Given the description of an element on the screen output the (x, y) to click on. 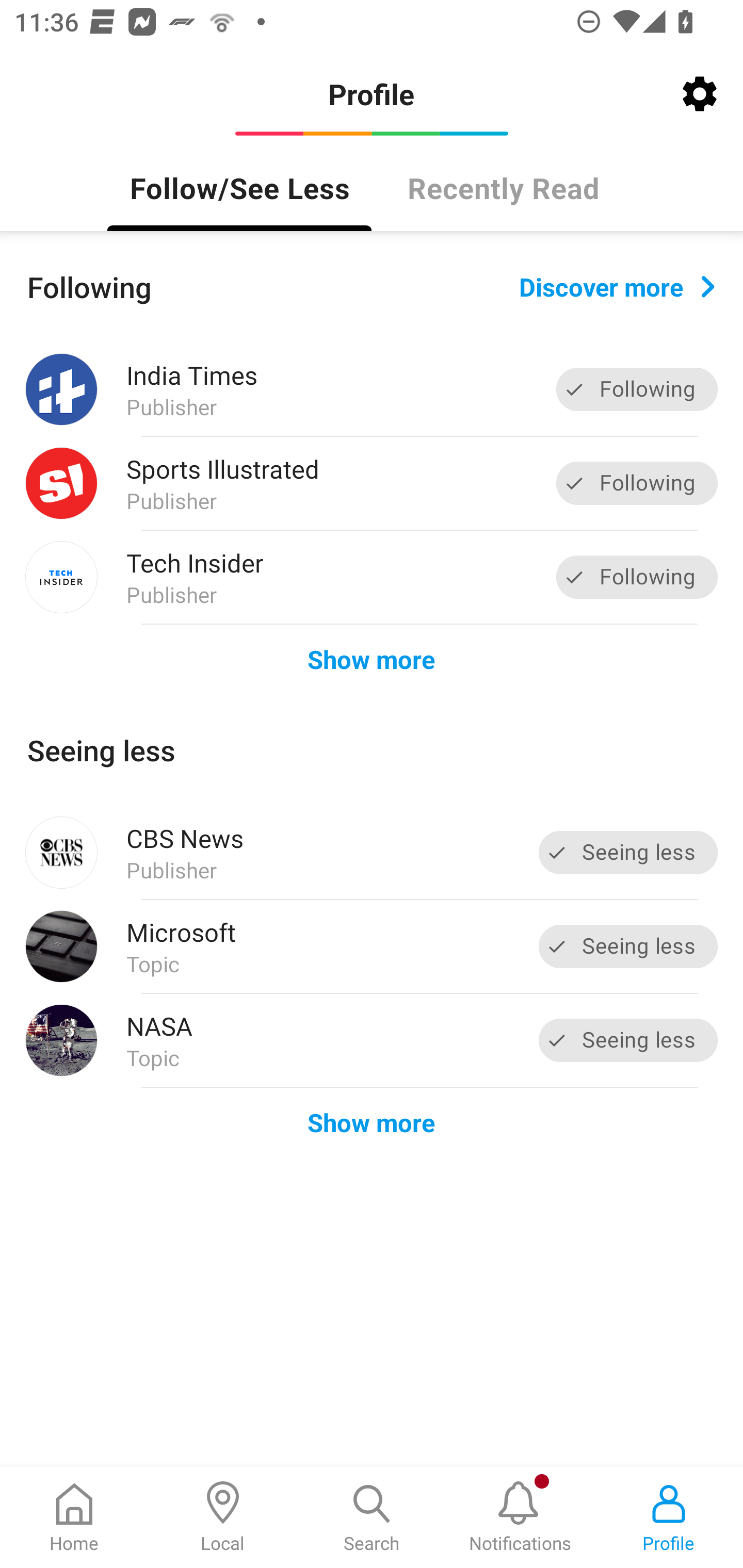
Settings (699, 93)
Recently Read (503, 187)
Discover more (617, 286)
India Times Publisher Following (371, 388)
Following (636, 389)
Sports Illustrated Publisher Following (371, 482)
Following (636, 482)
Tech Insider Publisher Following (371, 576)
Following (636, 576)
Show more (371, 659)
CBS News Publisher Seeing less (371, 852)
Seeing less (627, 852)
Microsoft Topic Seeing less (371, 947)
Seeing less (627, 946)
NASA Topic Seeing less (371, 1040)
Seeing less (627, 1040)
Show more (371, 1121)
Home (74, 1517)
Local (222, 1517)
Search (371, 1517)
Notifications, New notification Notifications (519, 1517)
